Given the description of an element on the screen output the (x, y) to click on. 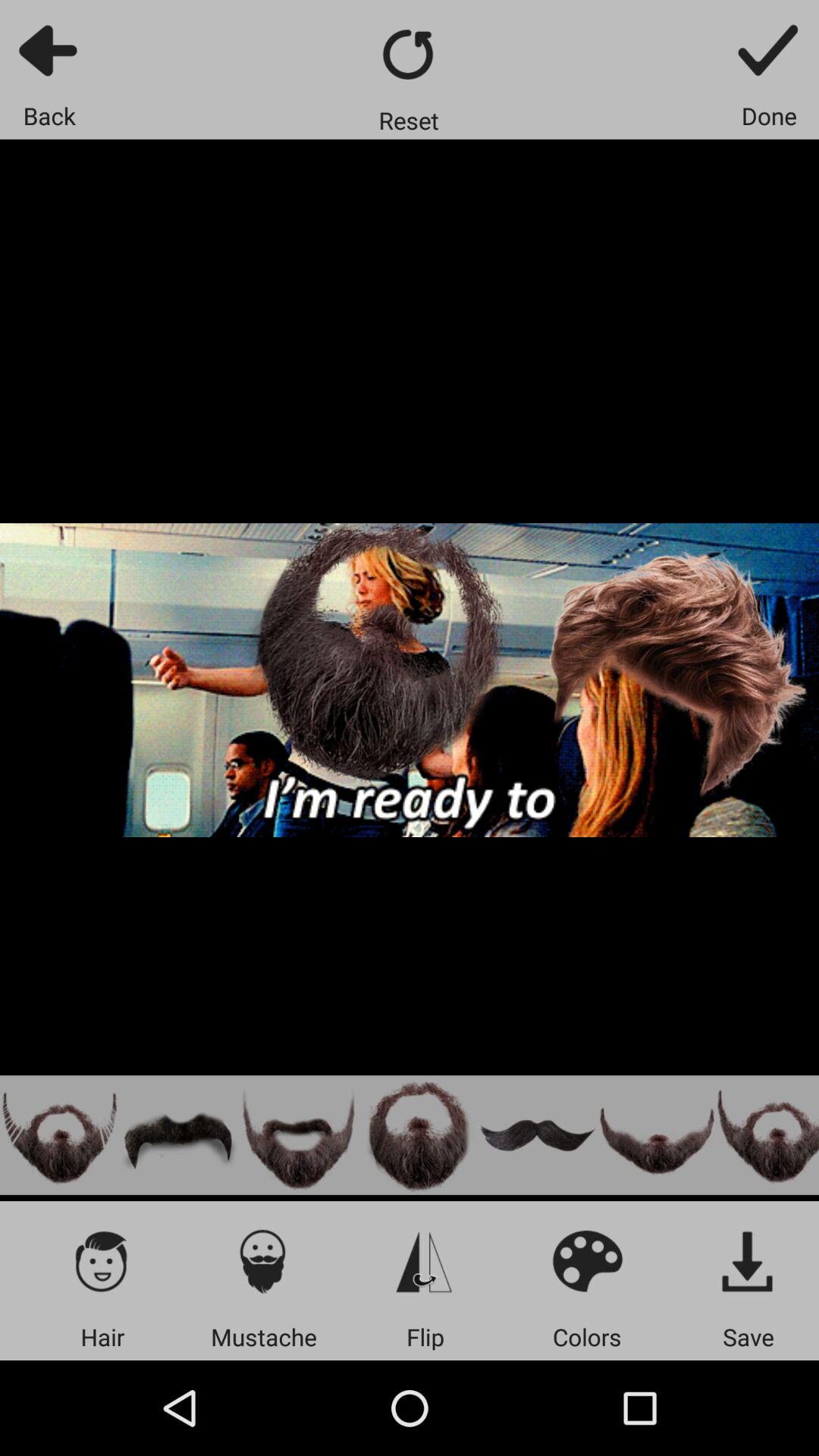
go to mustaches (263, 1260)
